Given the description of an element on the screen output the (x, y) to click on. 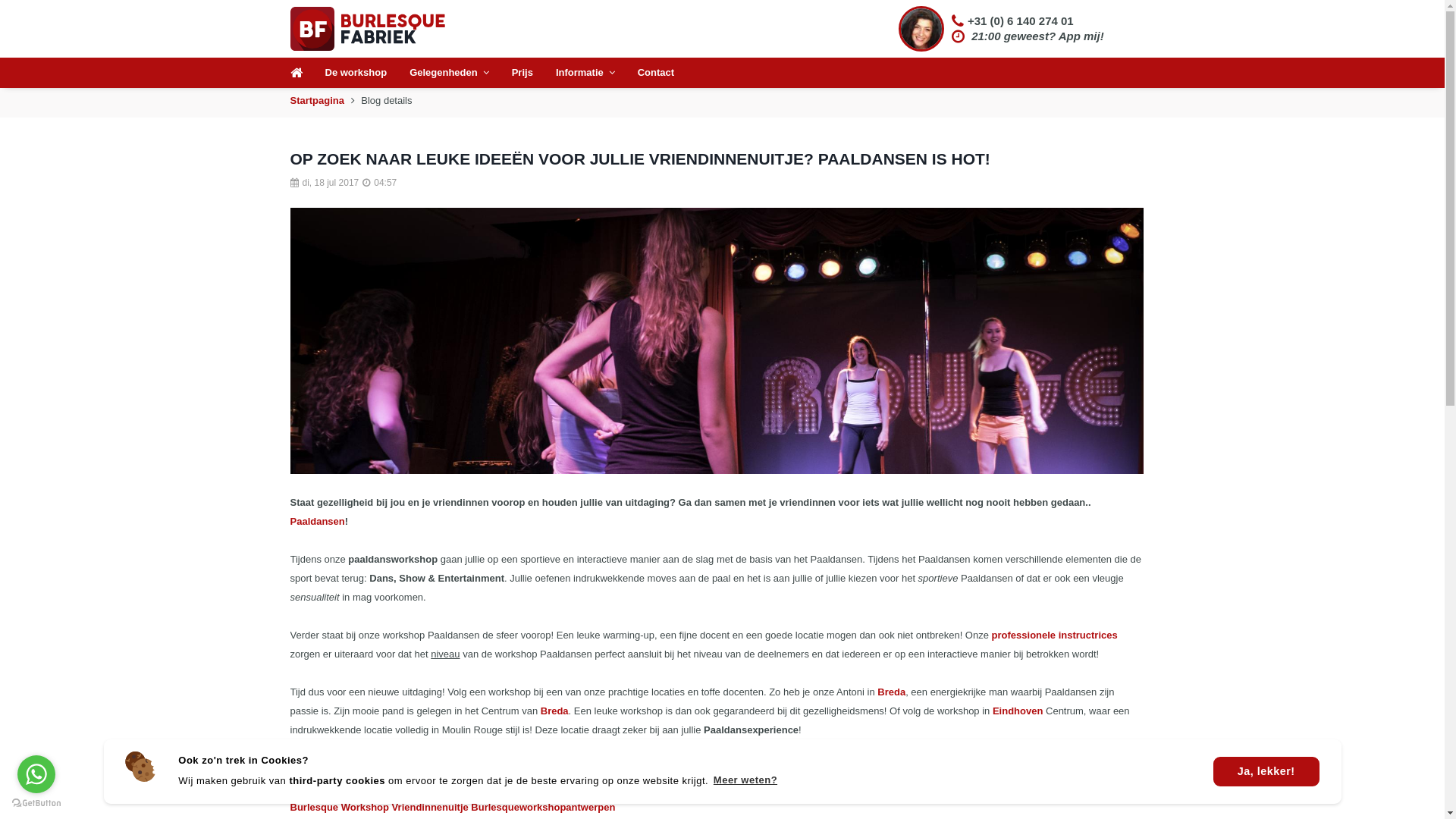
Prijs Element type: text (522, 72)
Breda Element type: text (891, 691)
Meer weten? Element type: text (744, 780)
Startpagina Element type: text (316, 100)
Paaldansen Element type: text (316, 521)
Breda Element type: text (554, 710)
Burlesque Workshop Vriendinnenuitje Aalst Element type: text (391, 787)
Informatie Element type: text (585, 72)
professionele instructrices Element type: text (1054, 634)
Contact Element type: text (655, 72)
Gelegenheden Element type: text (449, 72)
Eindhoven Element type: text (1017, 710)
De workshop Element type: text (355, 72)
Ja, lekker! Element type: text (1266, 771)
